Given the description of an element on the screen output the (x, y) to click on. 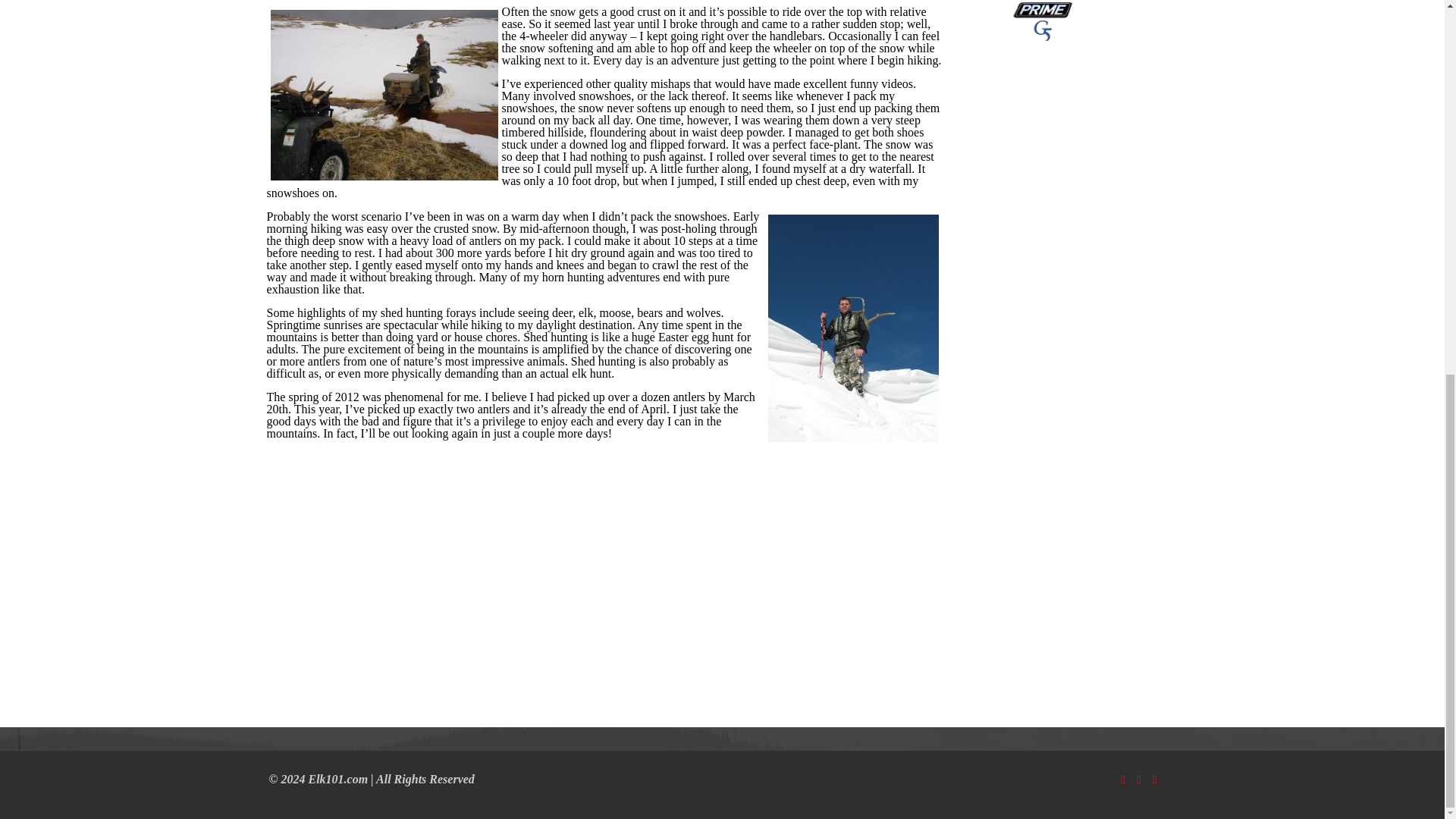
Facebook (1123, 779)
Instagram (1155, 779)
YouTube (1138, 779)
